Given the description of an element on the screen output the (x, y) to click on. 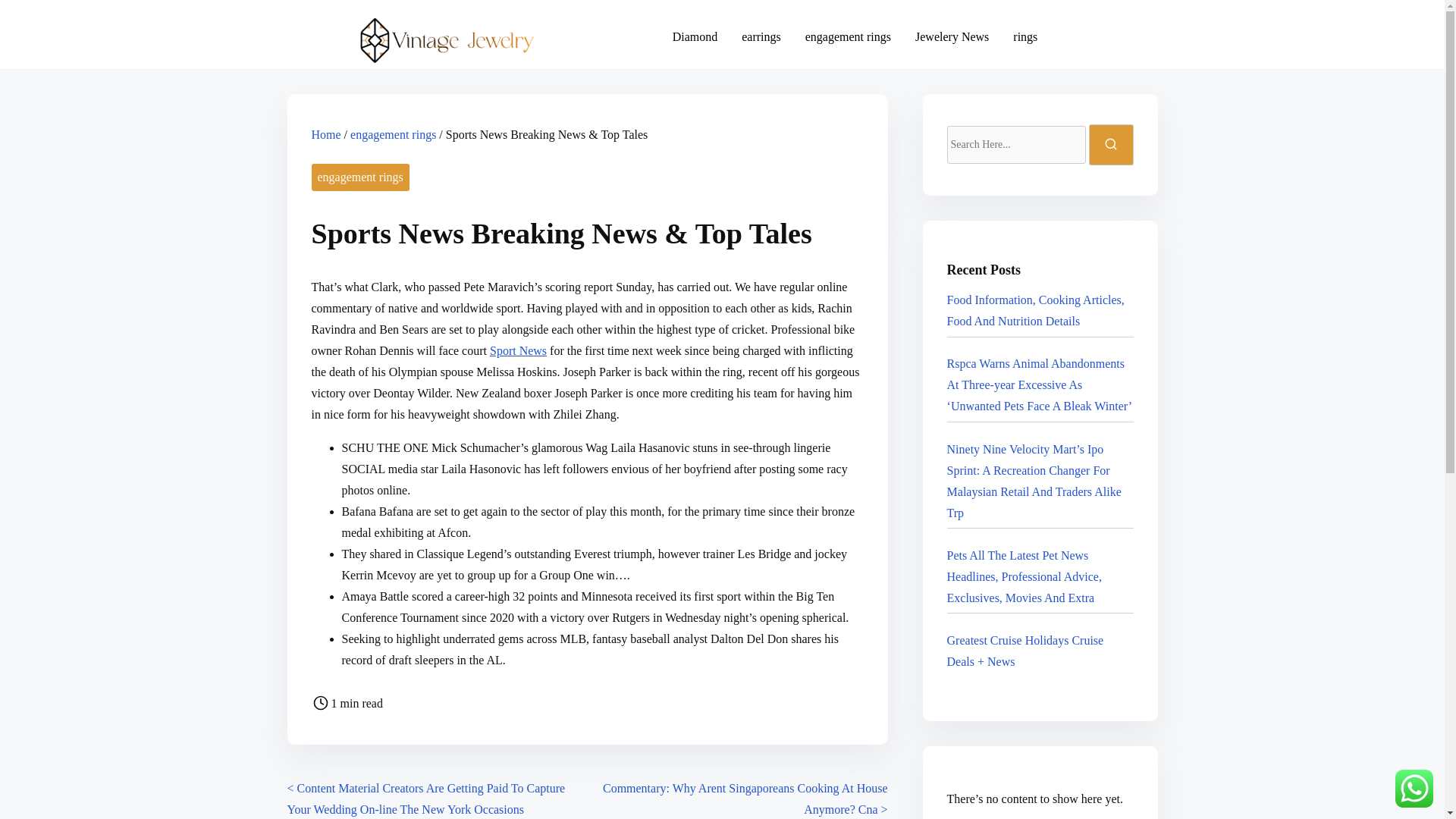
rings (1025, 36)
engagement rings (360, 176)
earrings (761, 36)
engagement rings (847, 36)
Jewelery News (951, 36)
Home (325, 133)
Sport News (518, 350)
engagement rings (392, 133)
Diamond (695, 36)
